Given the description of an element on the screen output the (x, y) to click on. 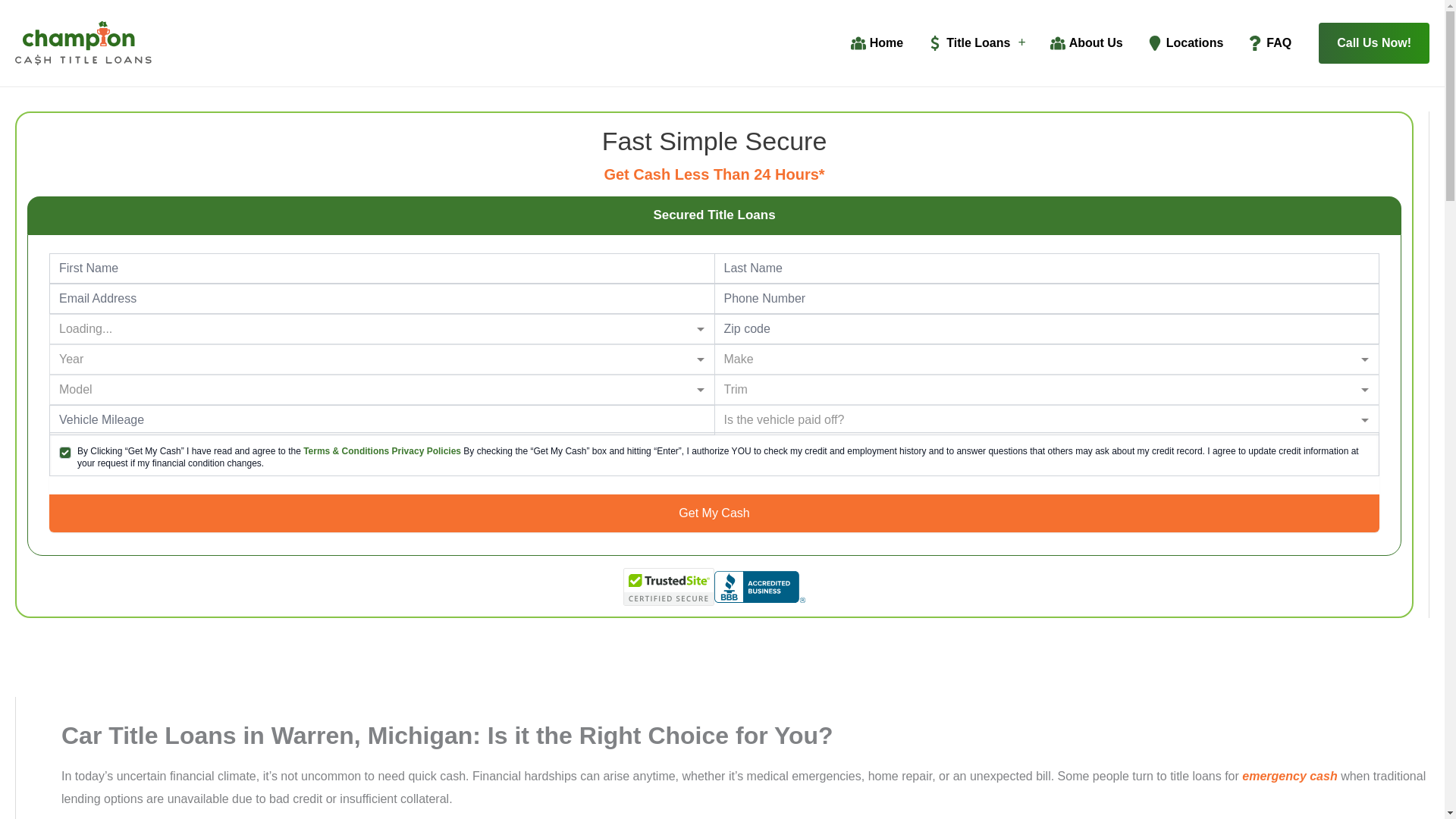
Title Loans (975, 43)
Call Us Now! (1374, 42)
emergency cash (1288, 775)
Home (876, 43)
Locations (1185, 43)
FAQ (1268, 43)
Privacy Policies (427, 450)
Get My Cash (713, 513)
on (65, 452)
About Us (1086, 43)
